Given the description of an element on the screen output the (x, y) to click on. 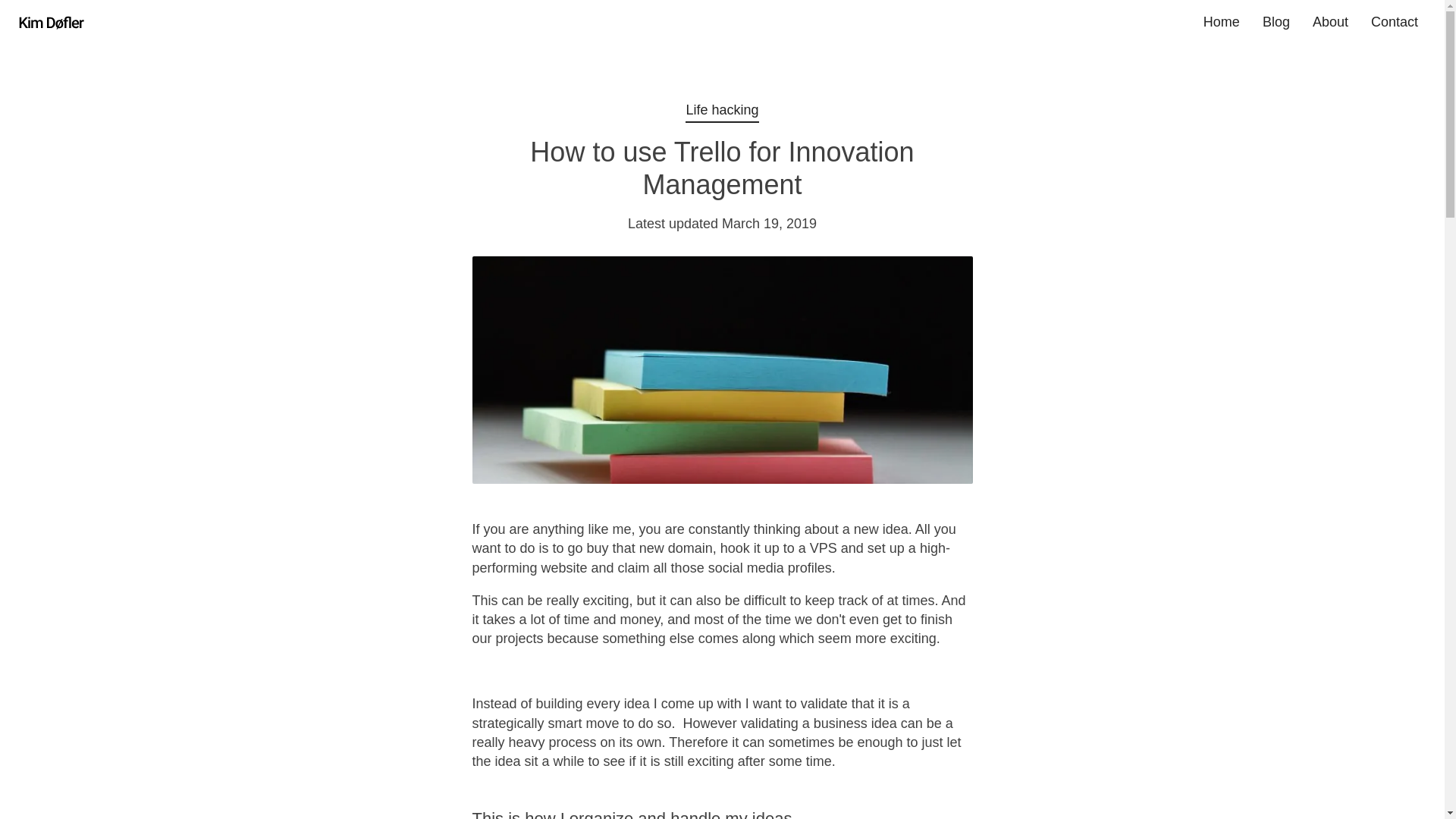
Blog (1275, 23)
Contact (1394, 23)
Life hacking (721, 109)
About (1330, 23)
Home (1221, 23)
